Given the description of an element on the screen output the (x, y) to click on. 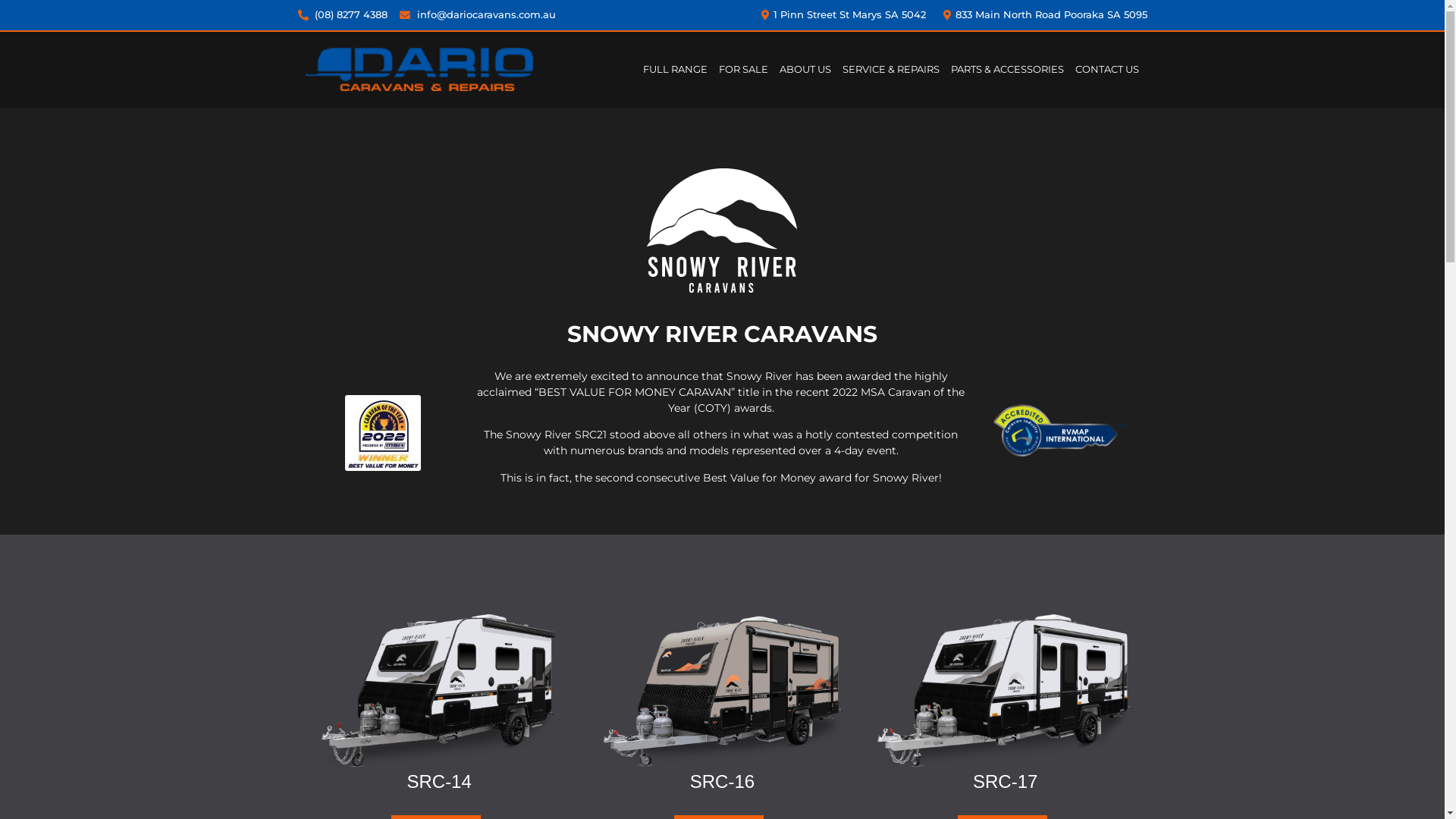
FOR SALE Element type: text (743, 68)
(08) 8277 4388 Element type: text (342, 14)
FULL RANGE Element type: text (675, 68)
PARTS & ACCESSORIES Element type: text (1006, 68)
1 Pinn Street St Marys SA 5042 Element type: text (841, 14)
Untitled-2 Element type: hover (382, 432)
RVMAP-International-TM Element type: hover (1059, 432)
SERVICE & REPAIRS Element type: text (890, 68)
CONTACT US Element type: text (1107, 68)
ABOUT US Element type: text (805, 68)
833 Main North Road Pooraka SA 5095 Element type: text (1042, 14)
info@dariocaravans.com.au Element type: text (477, 14)
